Given the description of an element on the screen output the (x, y) to click on. 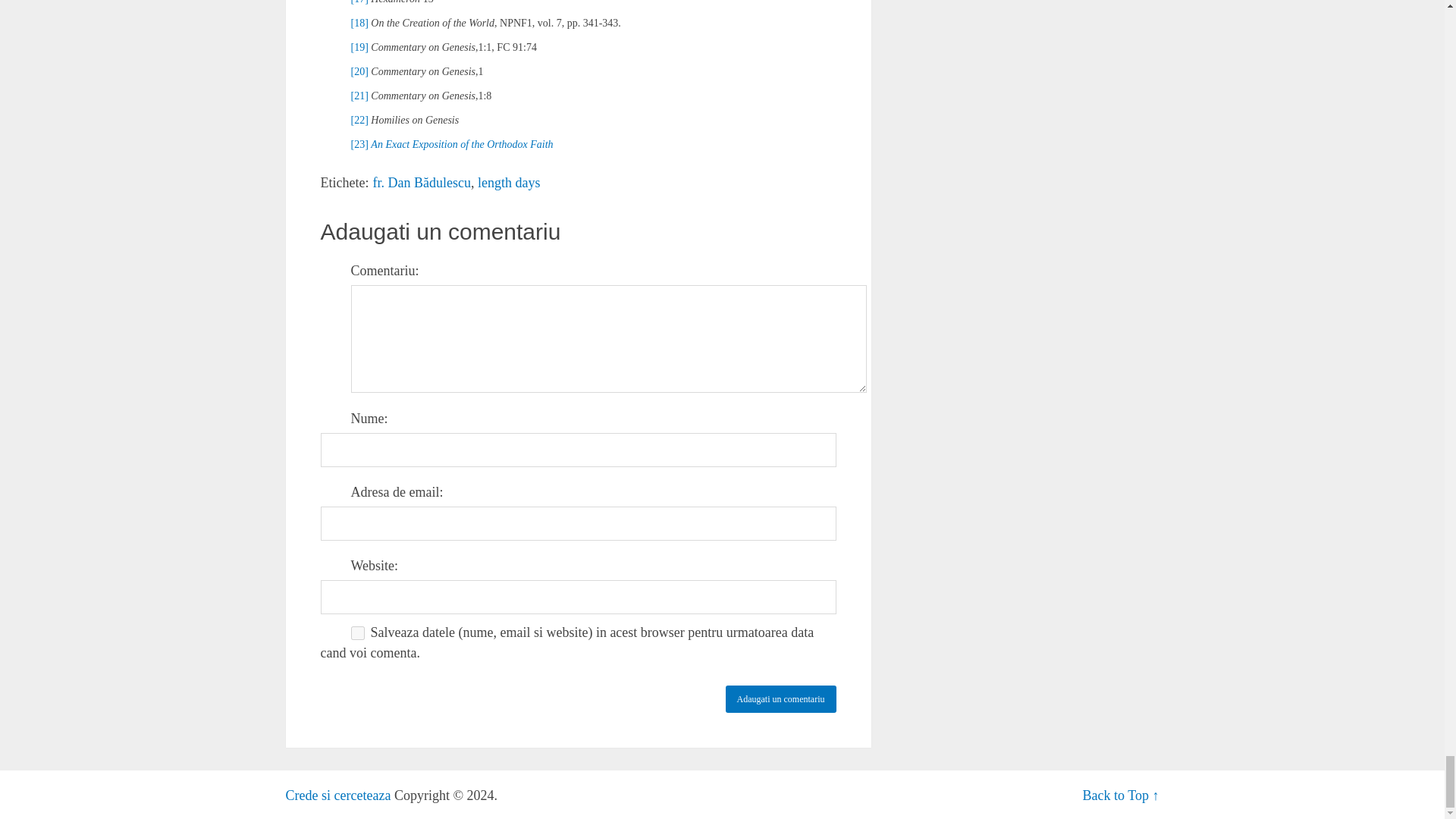
articole (337, 795)
yes (357, 632)
Adaugati un comentariu (780, 698)
